Given the description of an element on the screen output the (x, y) to click on. 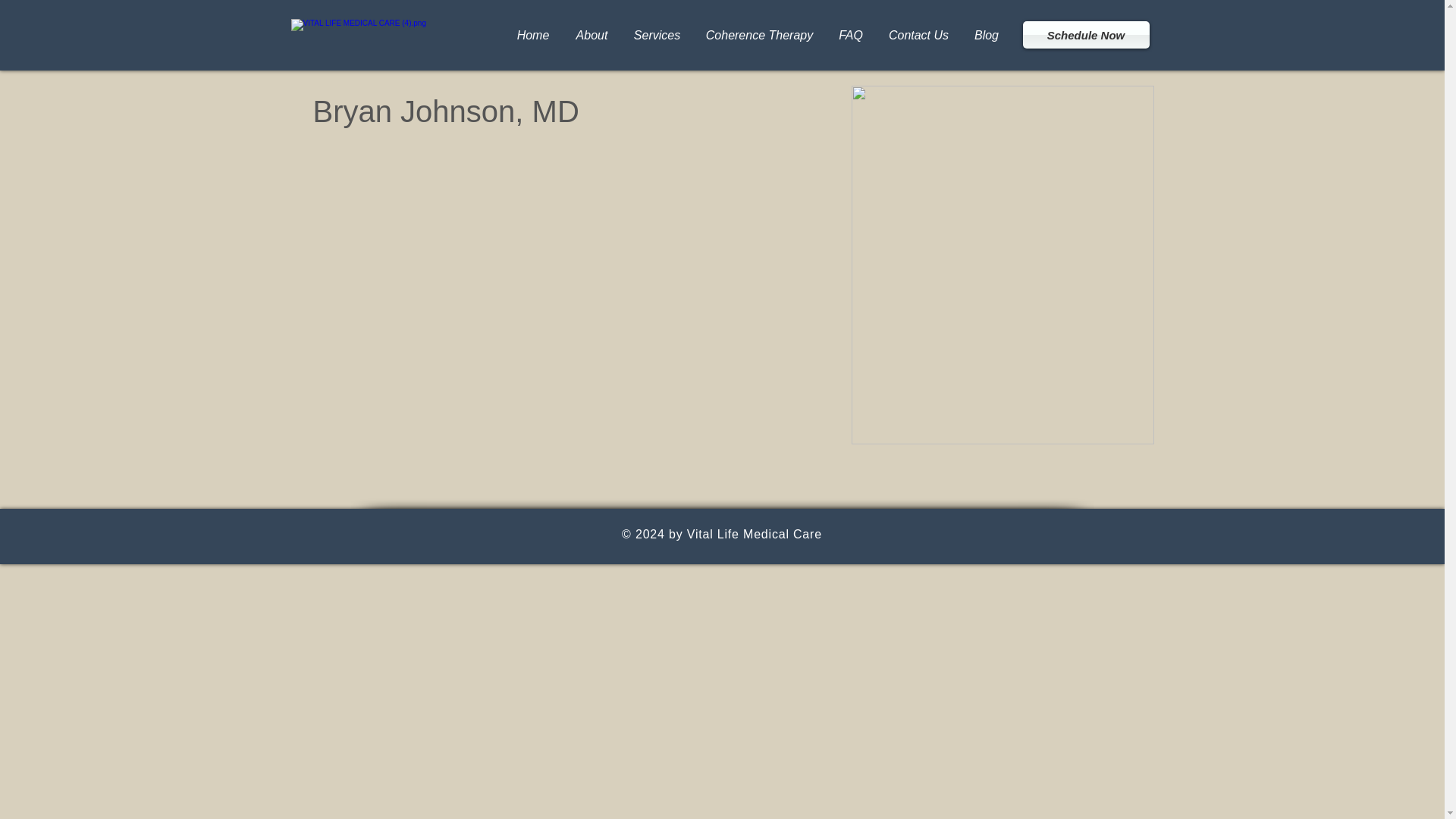
About (591, 35)
Blog (985, 35)
Home (532, 35)
Contact Us (918, 35)
FAQ (851, 35)
Coherence Therapy (759, 35)
Schedule Now (1085, 34)
Services (657, 35)
